Given the description of an element on the screen output the (x, y) to click on. 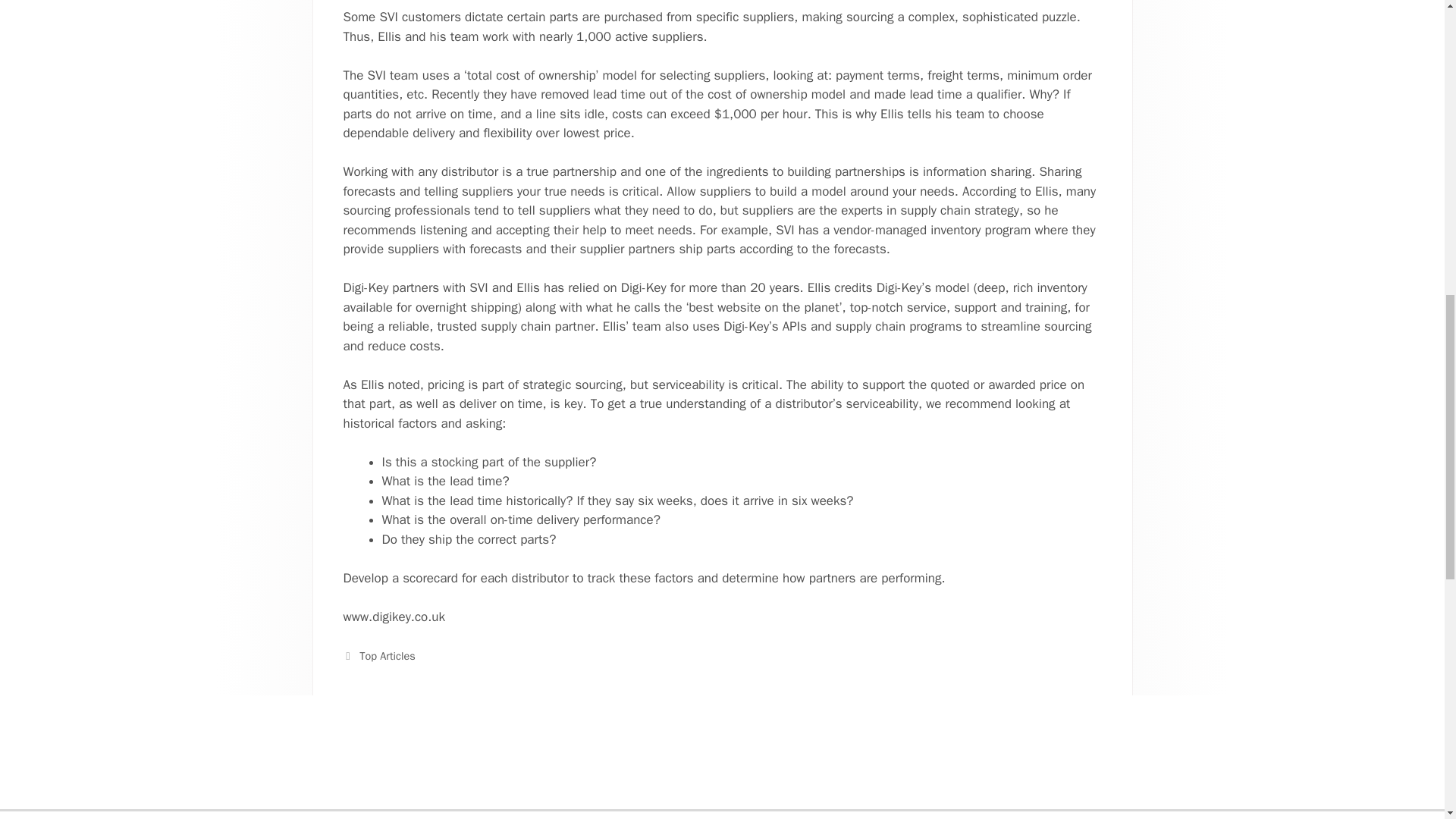
www.digikey.co.uk (393, 616)
Top Articles (386, 655)
